Given the description of an element on the screen output the (x, y) to click on. 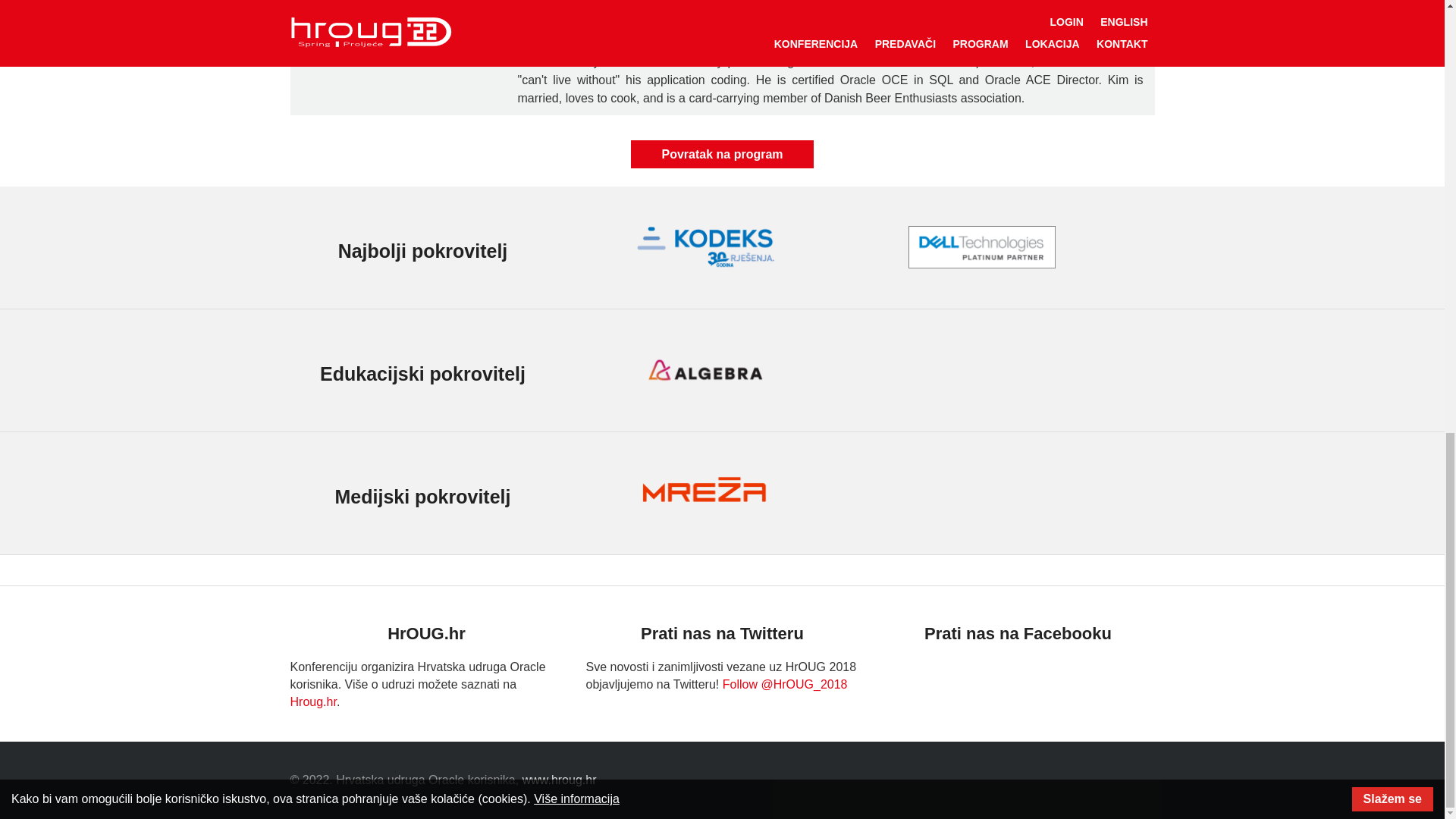
Algebra (704, 370)
Hroug.hr (312, 701)
Povratak na program (721, 154)
Hansen Kim Berg (398, 1)
Kodeks 30 godina (704, 247)
Kodeks DELL platinum partner (981, 247)
www.hroug.hr (559, 779)
